Given the description of an element on the screen output the (x, y) to click on. 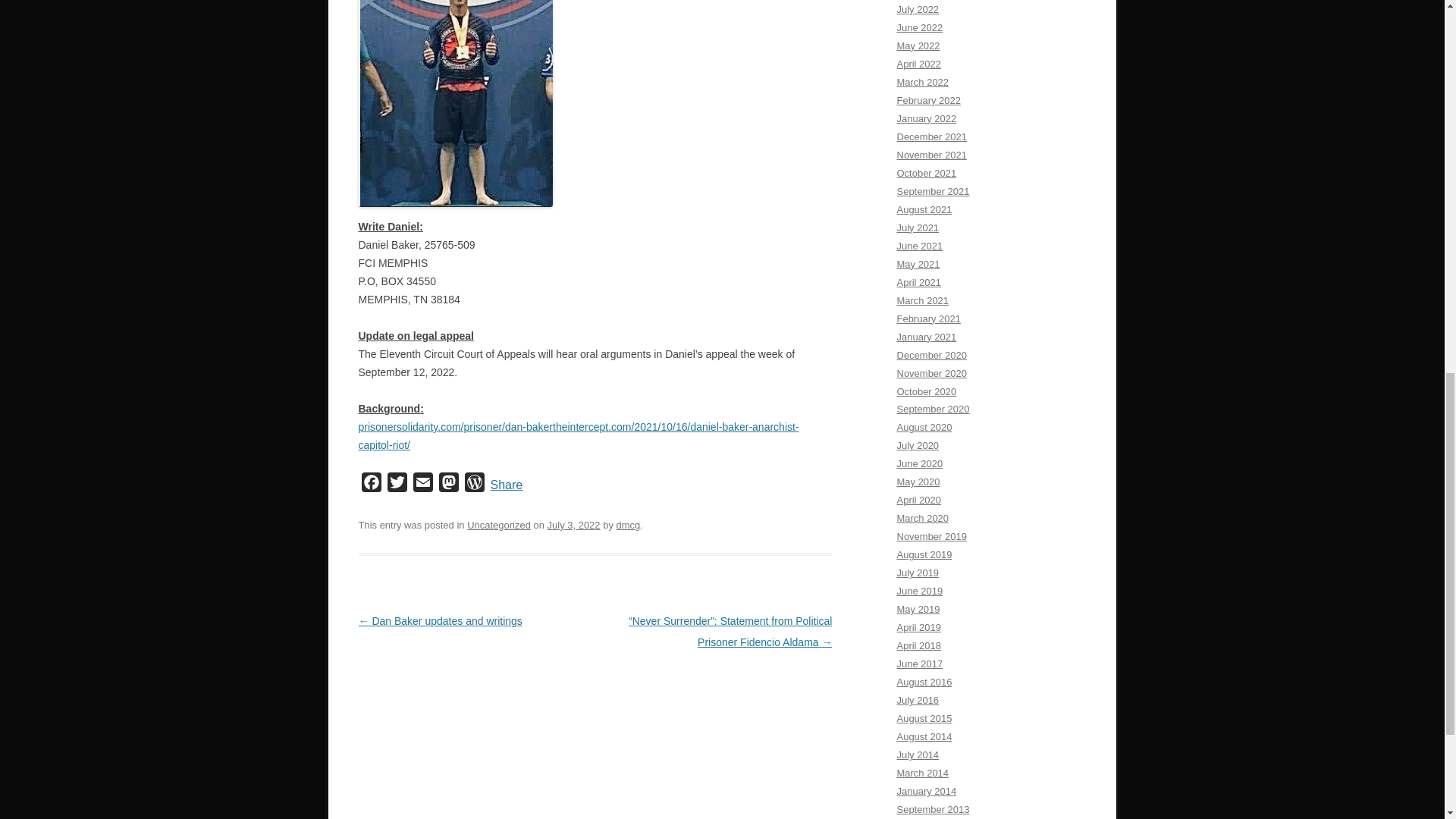
Email (422, 484)
WordPress (473, 484)
Facebook (371, 484)
Email (422, 484)
July 3, 2022 (573, 524)
Share (505, 485)
1:44 am (573, 524)
Uncategorized (499, 524)
Mastodon (448, 484)
Twitter (396, 484)
Mastodon (448, 484)
Facebook (371, 484)
View all posts by dmcg (627, 524)
dmcg (627, 524)
WordPress (473, 484)
